Given the description of an element on the screen output the (x, y) to click on. 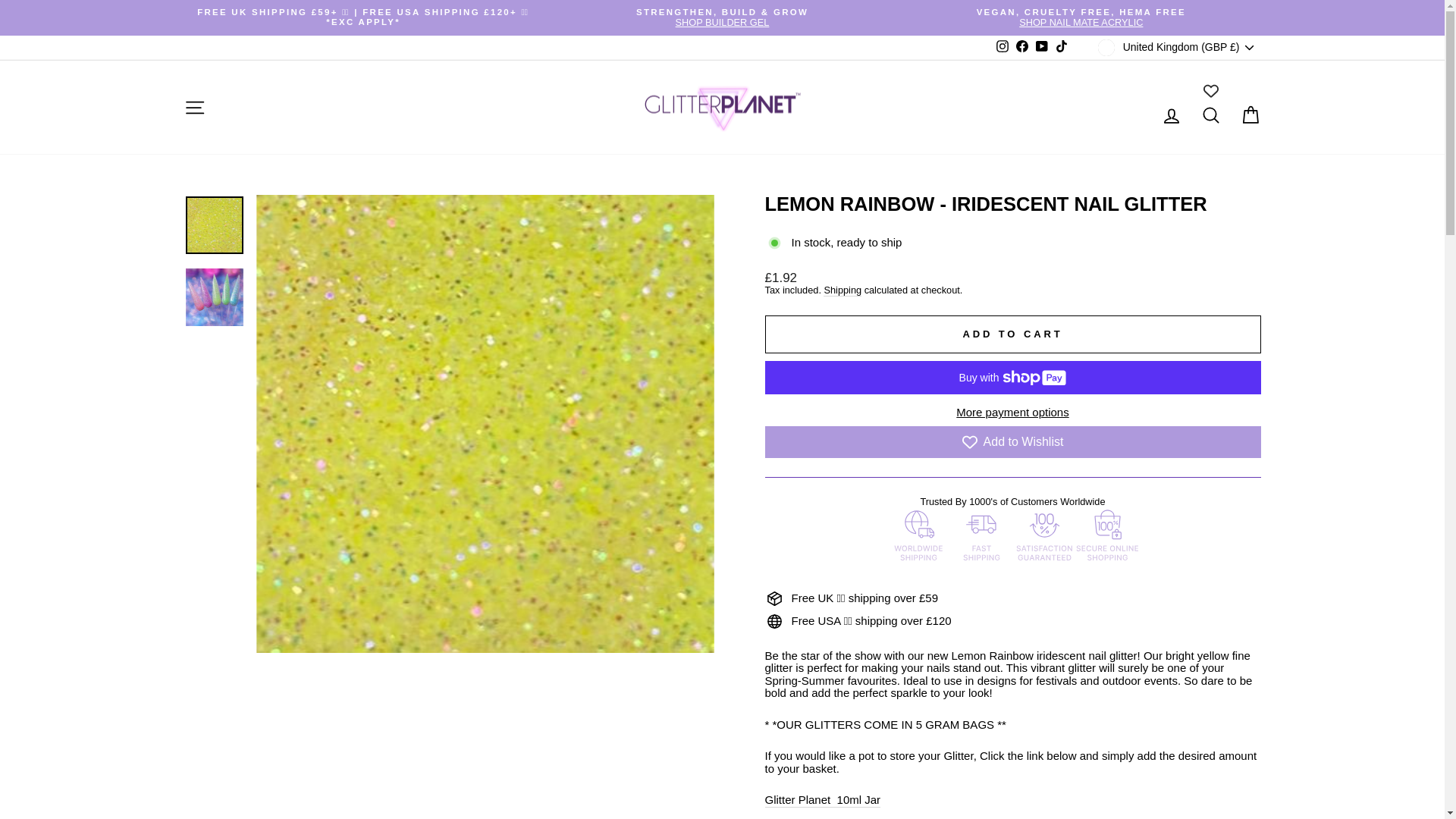
ICON-HAMBURGER (194, 107)
Glitter Planet on YouTube (1041, 47)
ICON-SEARCH (1210, 115)
ACCOUNT (1170, 115)
Glitter Planet Jar (822, 800)
instagram (1002, 46)
Glitter Planet on Instagram (1080, 17)
Glitter Planet on TikTok (1001, 47)
Glitter Planet on Facebook (1061, 47)
